Given the description of an element on the screen output the (x, y) to click on. 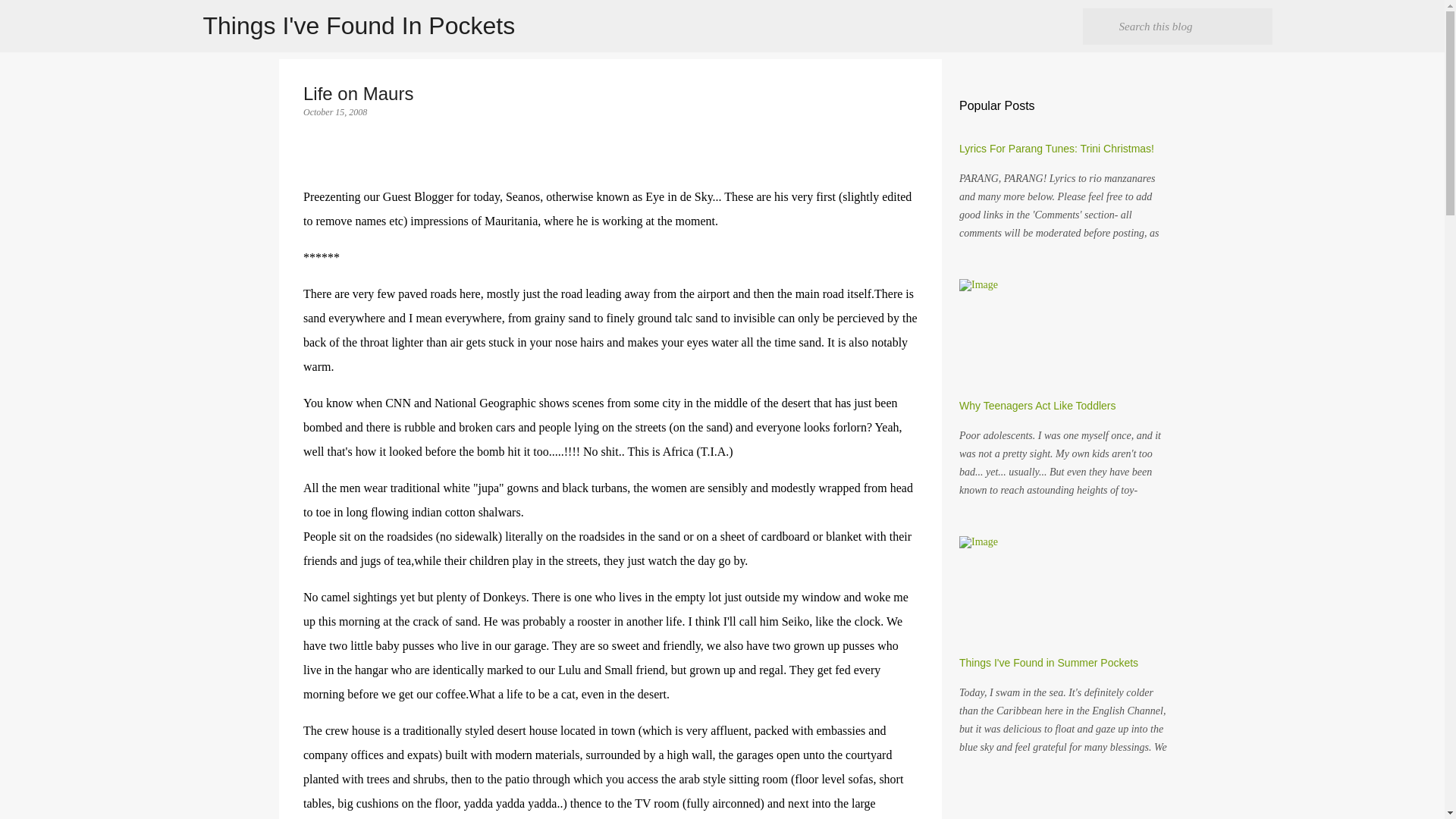
October 15, 2008 (334, 112)
Things I've Found In Pockets (359, 25)
permanent link (334, 112)
